Given the description of an element on the screen output the (x, y) to click on. 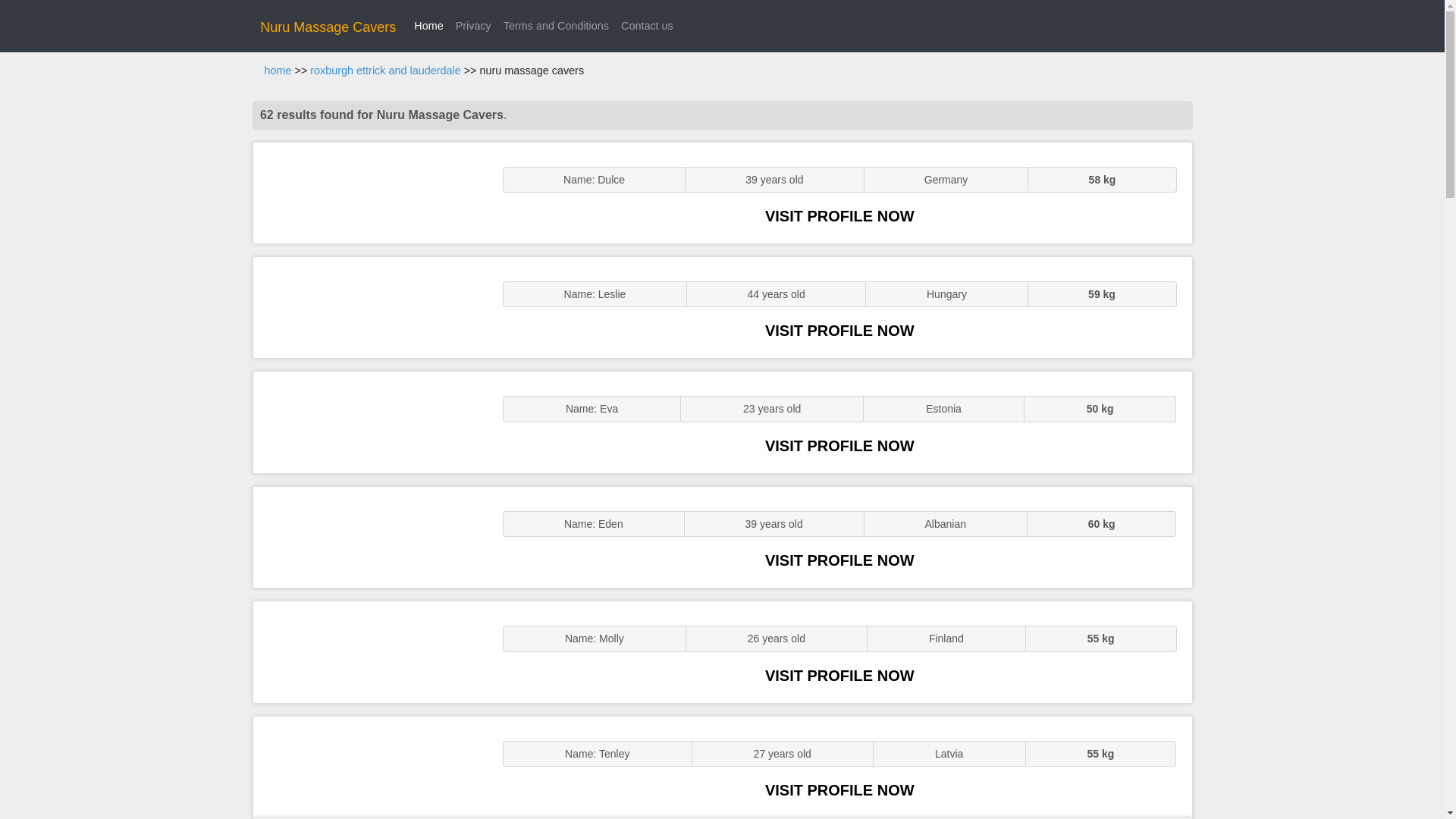
GFE (370, 307)
Terms and Conditions (555, 25)
Massage (370, 766)
VISIT PROFILE NOW (839, 216)
Sluts (370, 651)
Privacy (473, 25)
home (277, 70)
Nuru Massage Cavers (328, 27)
roxburgh ettrick and lauderdale (385, 70)
 ENGLISH STUNNER (370, 192)
